Given the description of an element on the screen output the (x, y) to click on. 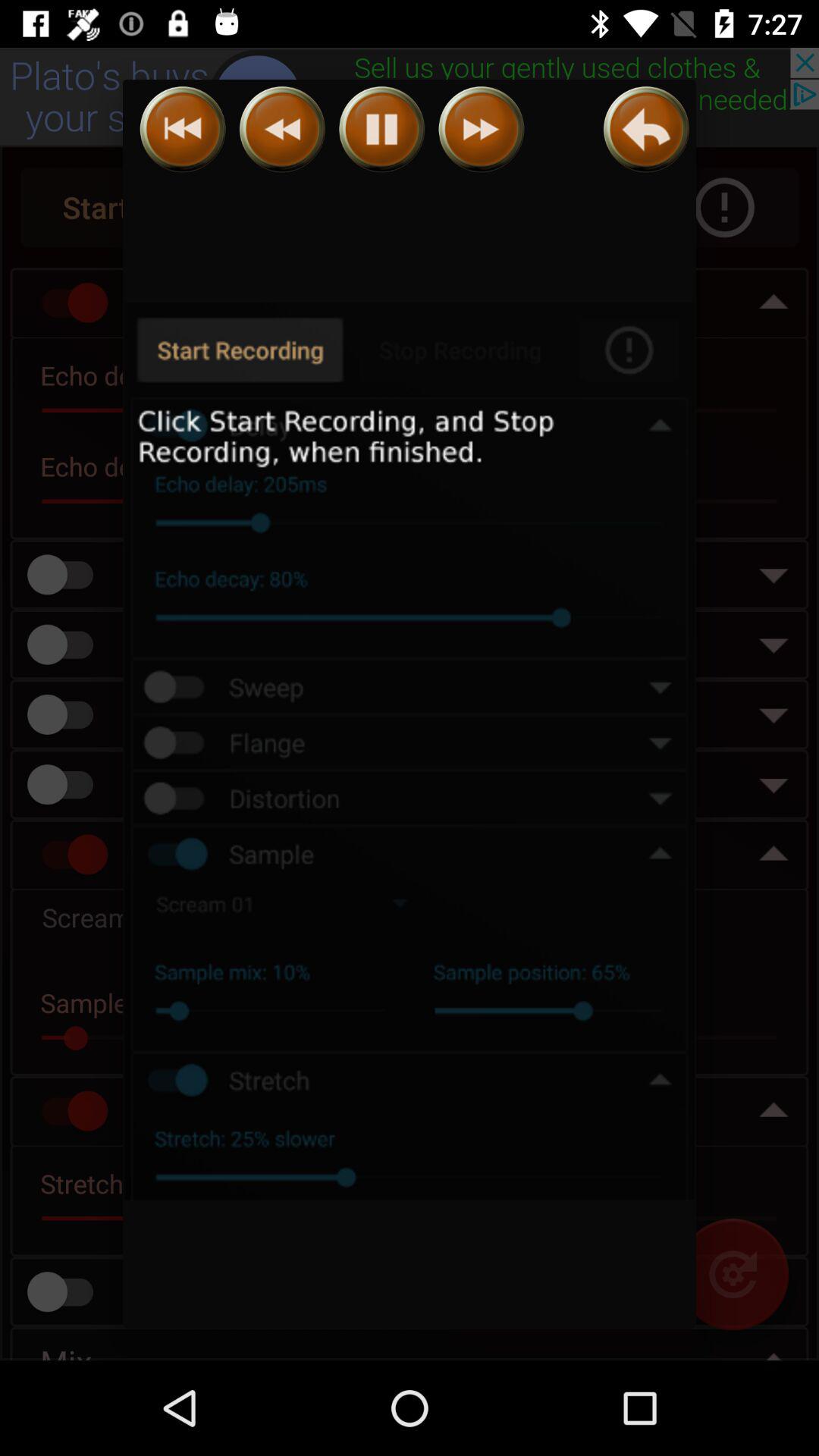
go to previous (646, 129)
